Given the description of an element on the screen output the (x, y) to click on. 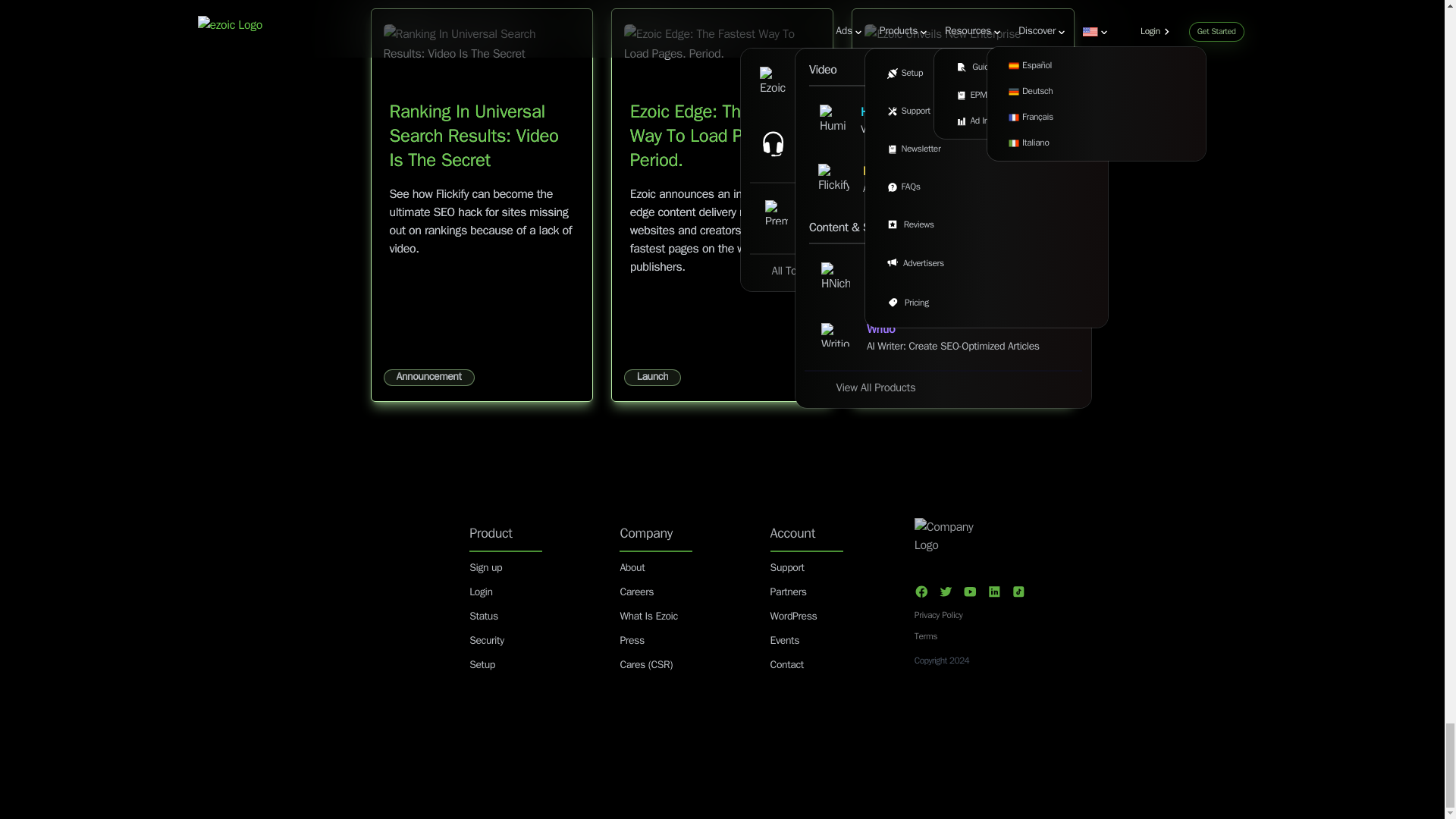
Ranking In Universal Search Results: Video Is The Secret (474, 135)
Sign up (485, 567)
Ezoic Edge: The Fastest Way To Load Pages. Period. (721, 135)
